Given the description of an element on the screen output the (x, y) to click on. 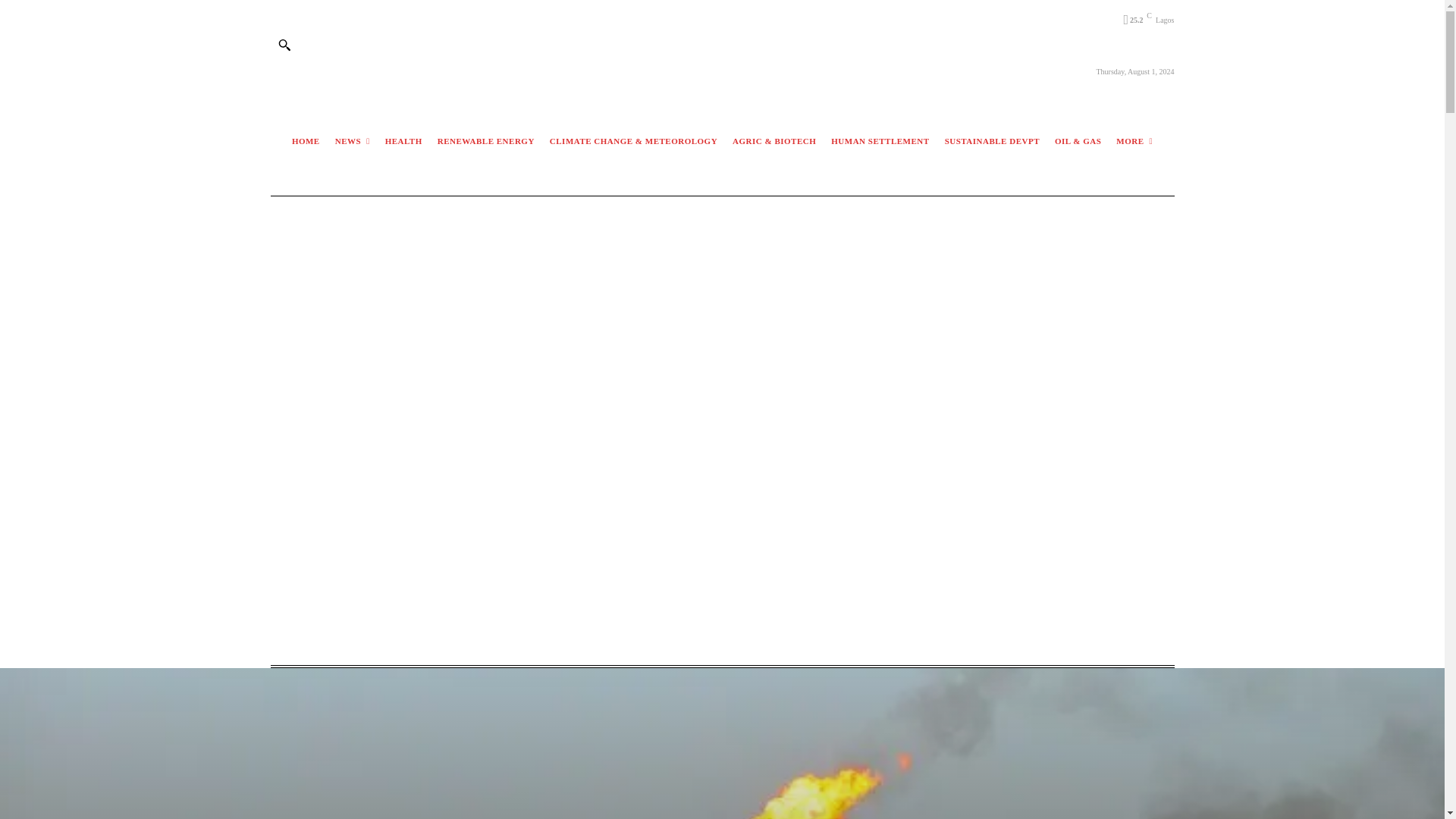
NEWS (352, 140)
HOME (305, 140)
